Given the description of an element on the screen output the (x, y) to click on. 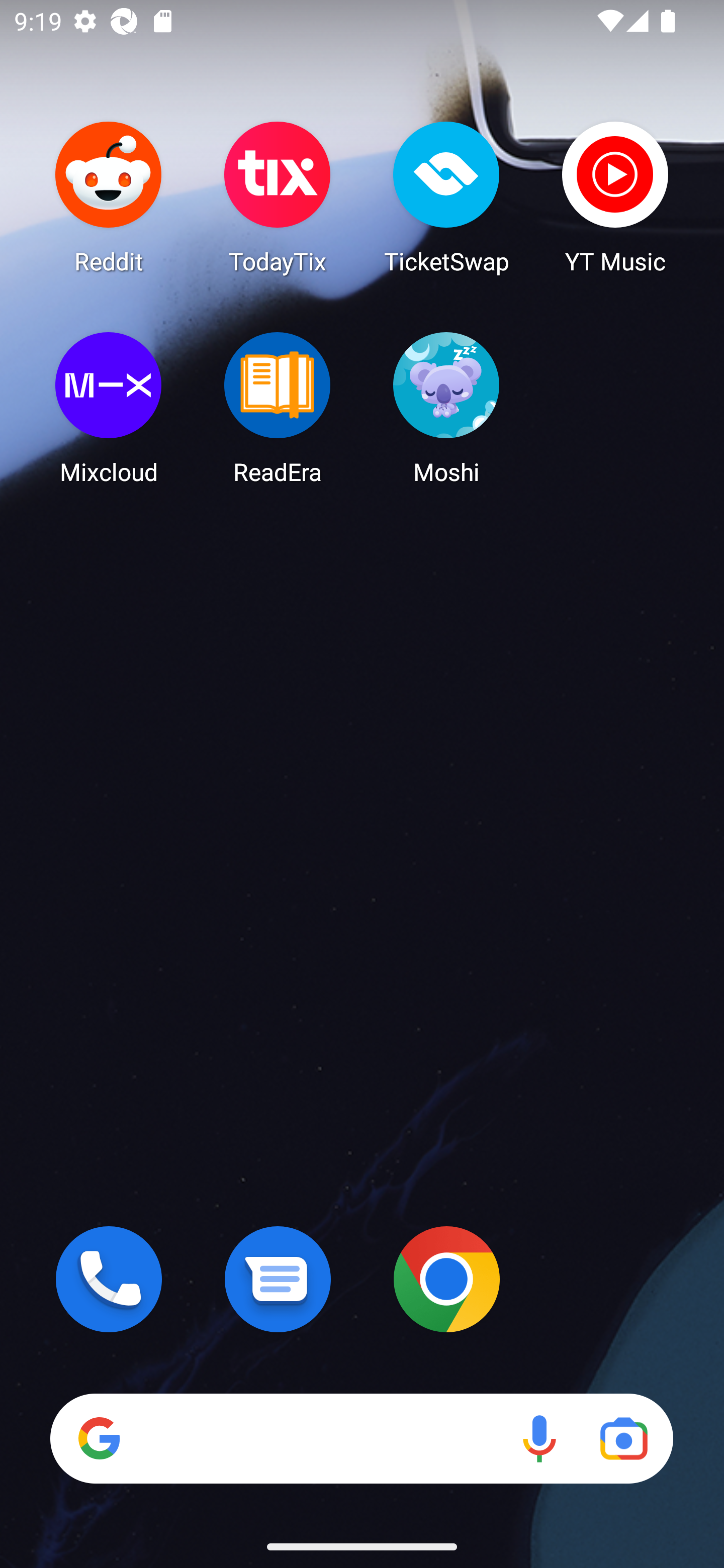
Reddit (108, 196)
TodayTix (277, 196)
TicketSwap (445, 196)
YT Music (615, 196)
Mixcloud (108, 407)
ReadEra (277, 407)
Moshi (445, 407)
Phone (108, 1279)
Messages (277, 1279)
Chrome (446, 1279)
Voice search (539, 1438)
Google Lens (623, 1438)
